Given the description of an element on the screen output the (x, y) to click on. 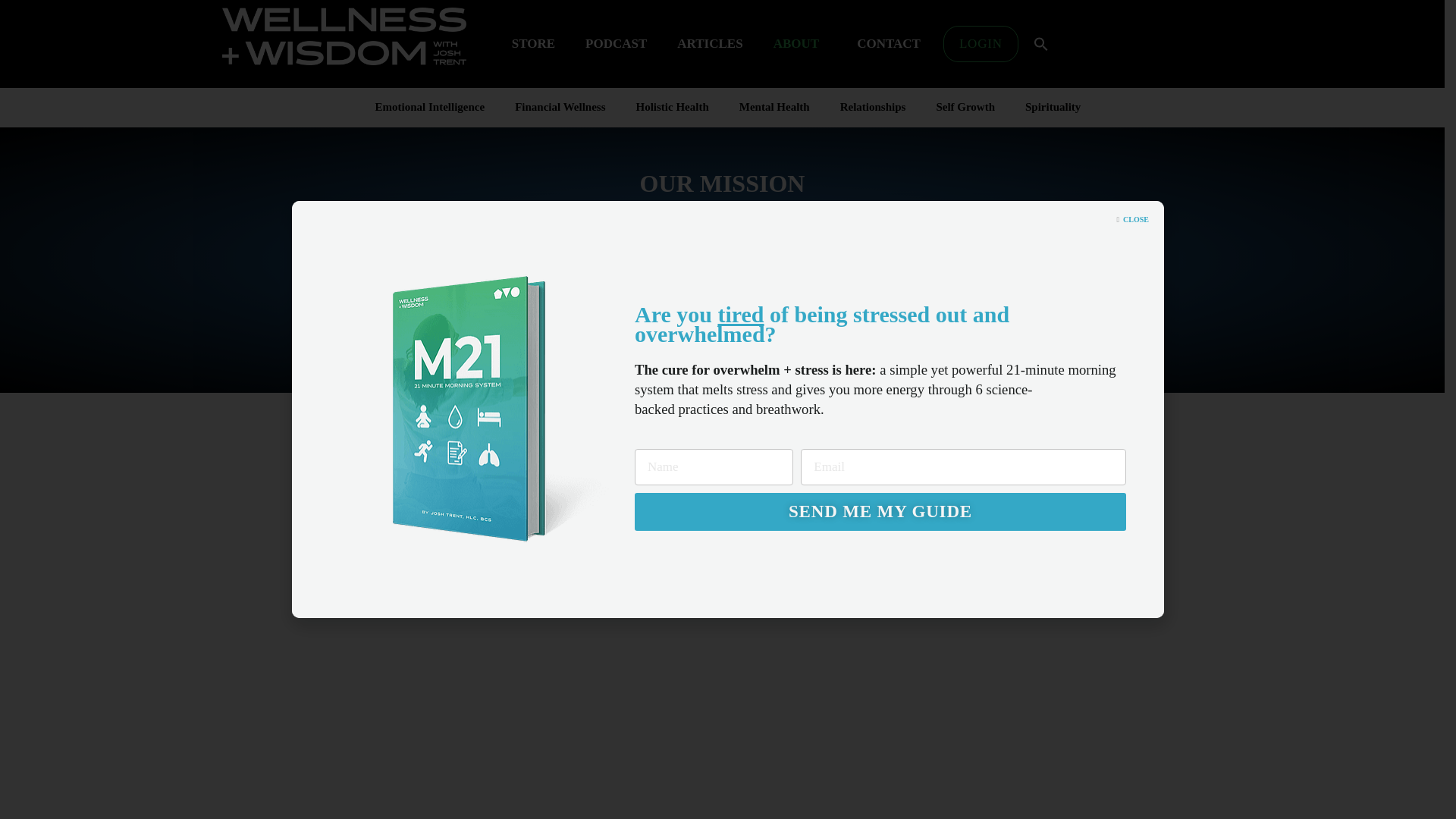
PODCAST (616, 43)
STORE (533, 43)
Wellness Wisdom White White (343, 36)
ABOUT (799, 43)
CONTACT (892, 43)
LOGIN (980, 43)
ARTICLES (709, 43)
